Given the description of an element on the screen output the (x, y) to click on. 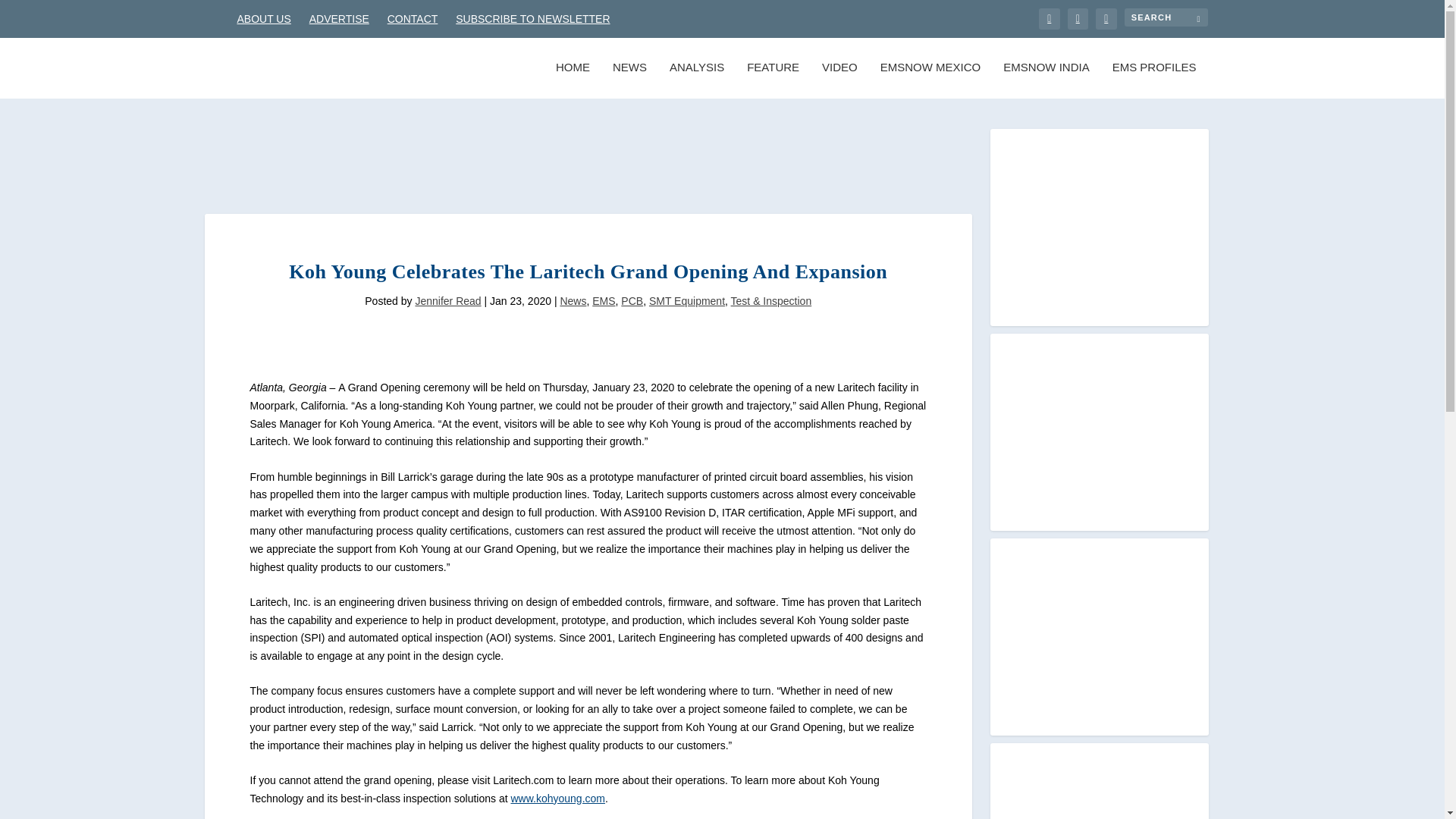
SUBSCRIBE TO NEWSLETTER (532, 18)
ABOUT US (262, 18)
FEATURE (772, 79)
CONTACT (412, 18)
NEWS (629, 79)
Search for: (1165, 17)
PCB (632, 300)
EMS PROFILES (1154, 79)
EMSNOW INDIA (1046, 79)
Posts by Jennifer Read (447, 300)
ANALYSIS (696, 79)
VIDEO (839, 79)
EMSNOW MEXICO (930, 79)
Jennifer Read (447, 300)
SMT Equipment (687, 300)
